Given the description of an element on the screen output the (x, y) to click on. 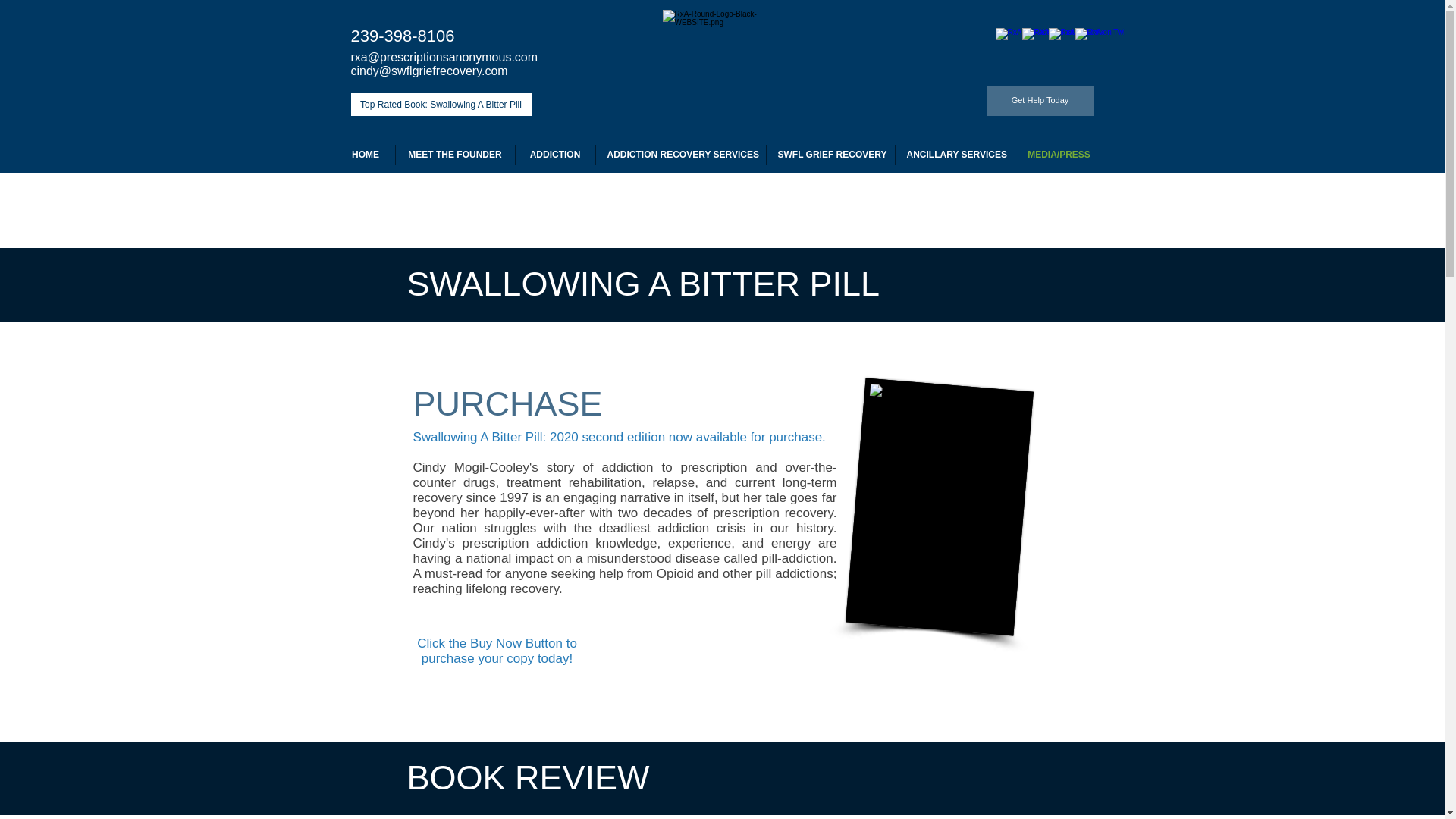
Top Rated Book: Swallowing A Bitter Pill (440, 104)
SWFL GRIEF RECOVERY (829, 154)
ADDICTION RECOVERY SERVICES (680, 154)
239-398-8106 (402, 35)
Get Help Today (1039, 100)
HOME (365, 154)
ANCILLARY SERVICES (954, 154)
MEET THE FOUNDER (455, 154)
